Given the description of an element on the screen output the (x, y) to click on. 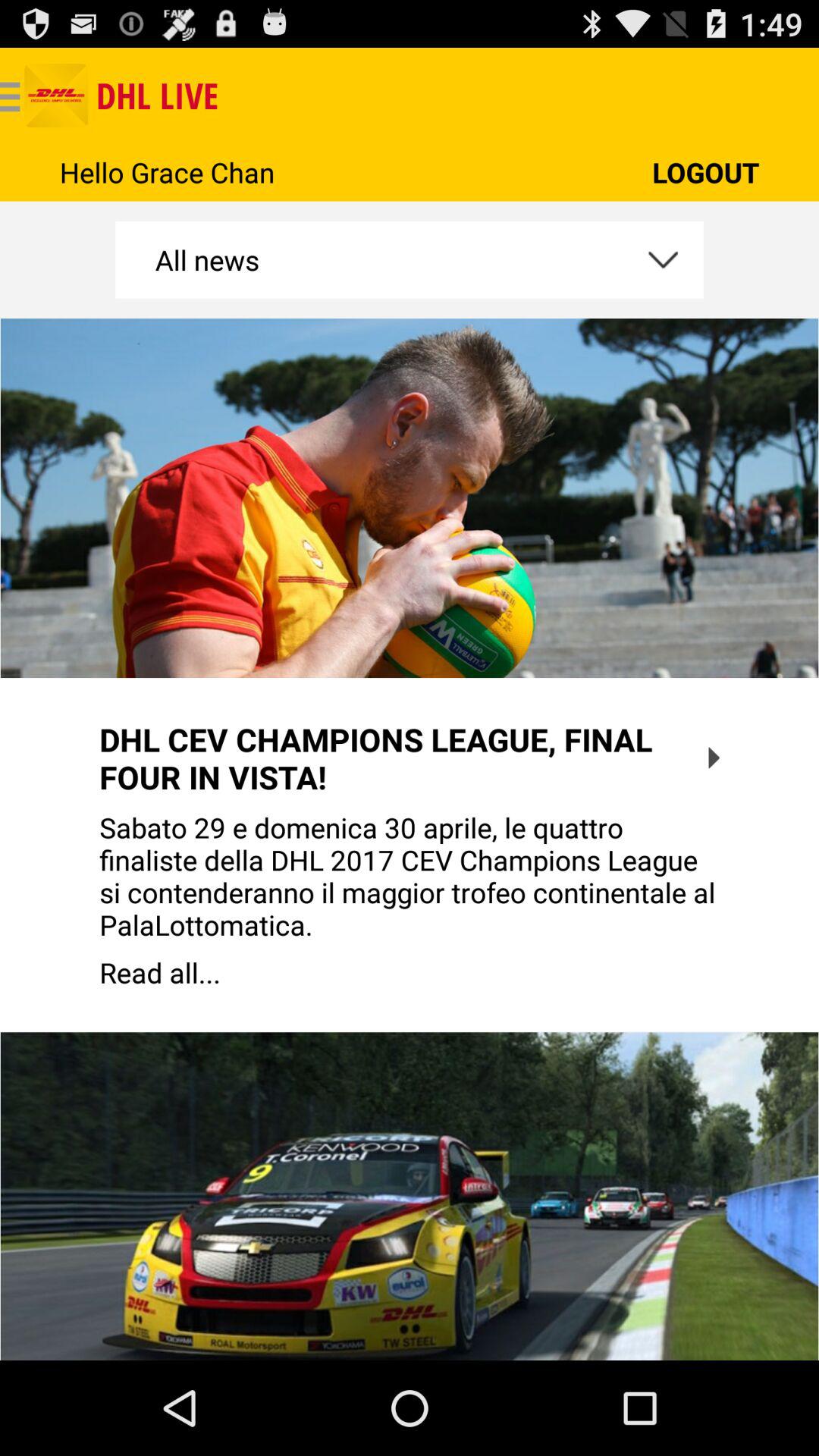
turn off logout (705, 172)
